Given the description of an element on the screen output the (x, y) to click on. 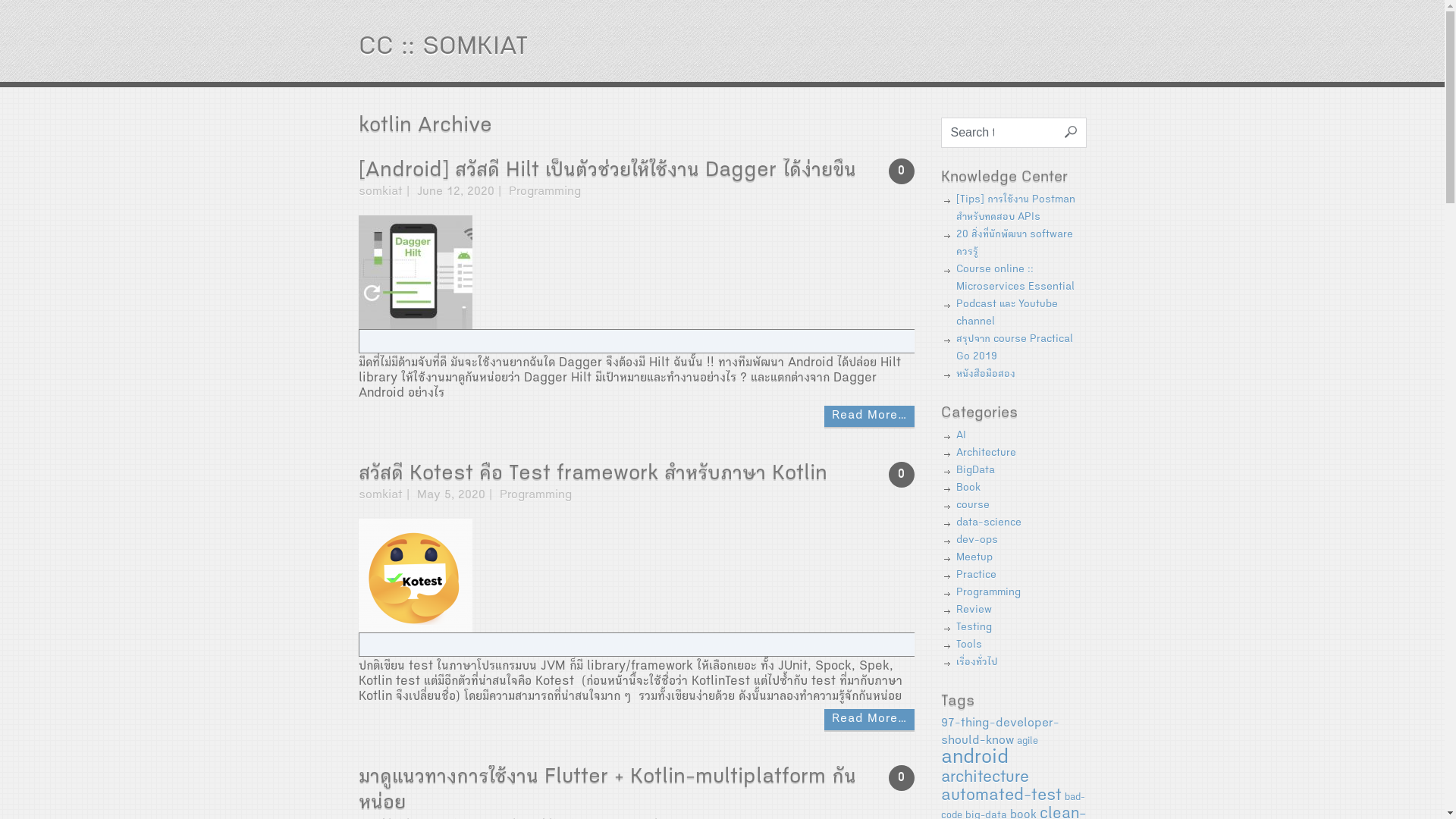
Practice Element type: text (975, 575)
architecture Element type: text (984, 778)
CC :: SOMKIAT Element type: text (442, 48)
Course online :: Microservices Essential Element type: text (1014, 278)
Programming Element type: text (987, 592)
dev-ops Element type: text (976, 540)
agile Element type: text (1026, 741)
0 Element type: text (901, 171)
0 Element type: text (901, 474)
somkiat Element type: text (379, 192)
somkiat Element type: text (379, 495)
BigData Element type: text (974, 470)
course Element type: text (971, 505)
data-science Element type: text (987, 522)
Book Element type: text (967, 488)
0 Element type: text (901, 777)
automated-test Element type: text (1000, 796)
Review Element type: text (973, 610)
AI Element type: text (960, 435)
Architecture Element type: text (985, 453)
97-thing-developer-should-know Element type: text (999, 732)
Tools Element type: text (968, 645)
Programming Element type: text (544, 192)
Programming Element type: text (534, 495)
Testing Element type: text (973, 627)
android Element type: text (973, 758)
Meetup Element type: text (973, 557)
